Given the description of an element on the screen output the (x, y) to click on. 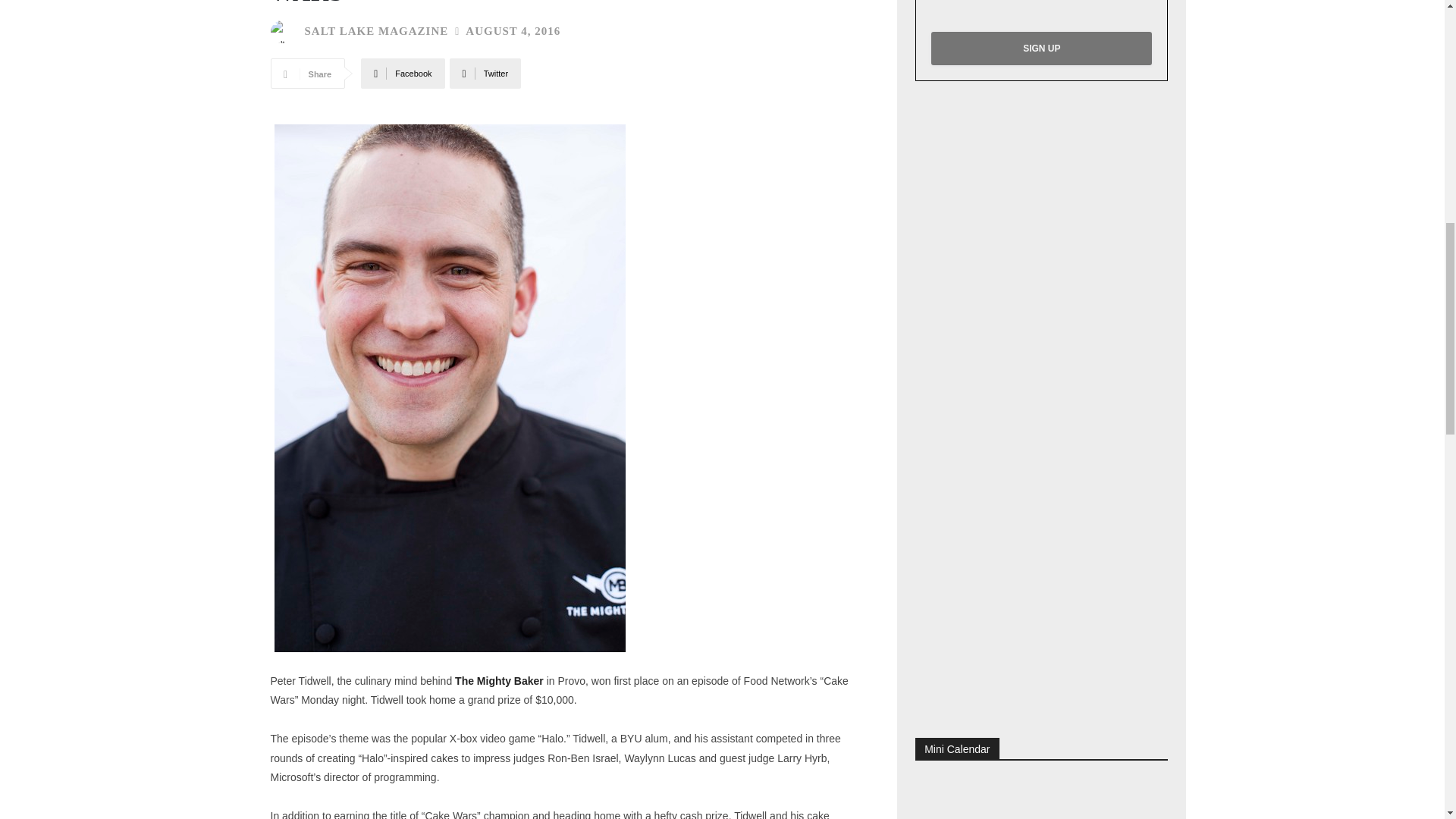
Salt Lake Magazine (284, 31)
Twitter (485, 73)
Facebook (402, 73)
SIGN UP (1041, 48)
